Given the description of an element on the screen output the (x, y) to click on. 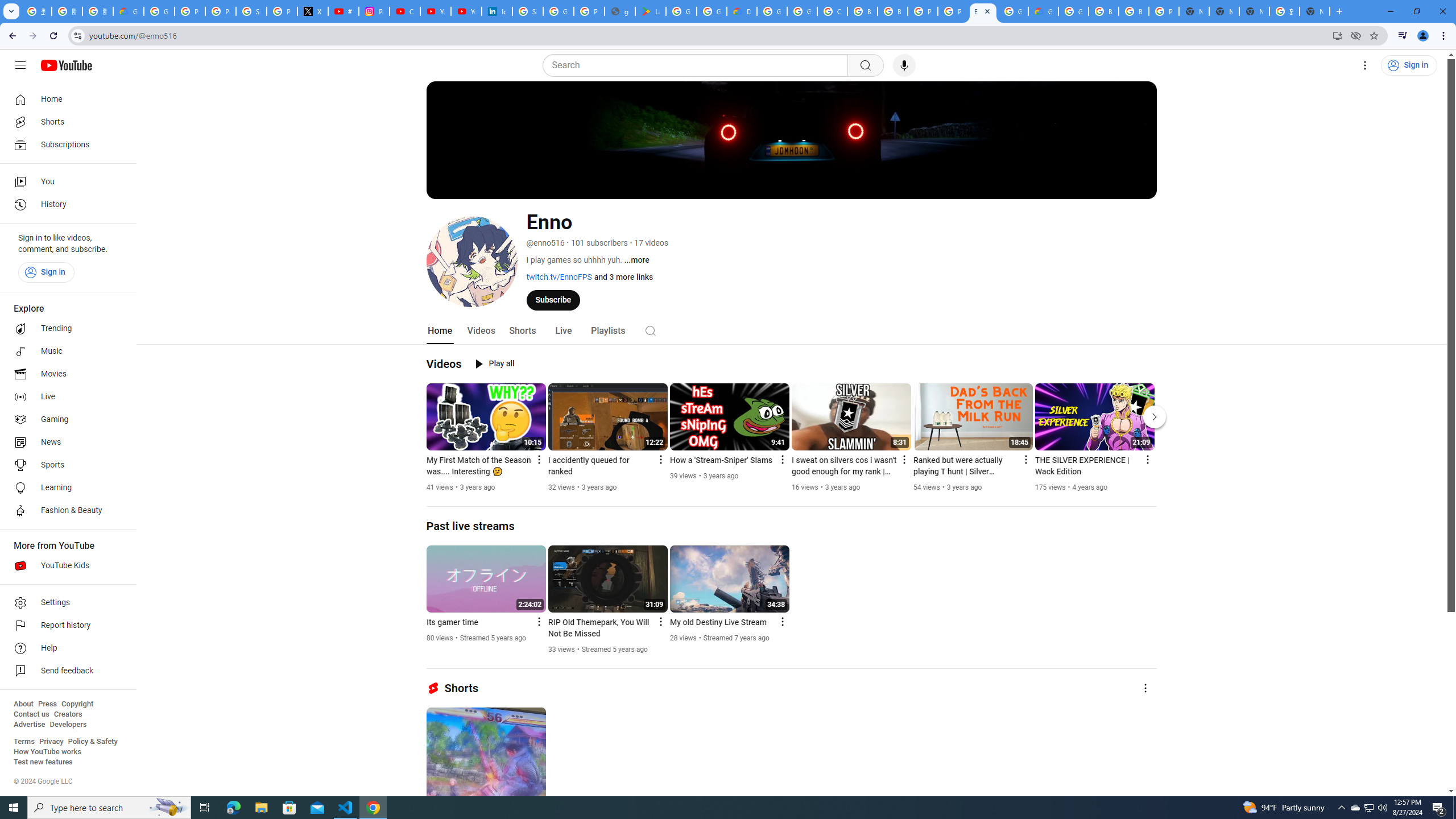
Creators (67, 714)
Subscriptions (64, 144)
Privacy Help Center - Policies Help (220, 11)
#nbabasketballhighlights - YouTube (343, 11)
More actions (1145, 687)
Playlists (607, 330)
X (312, 11)
